Given the description of an element on the screen output the (x, y) to click on. 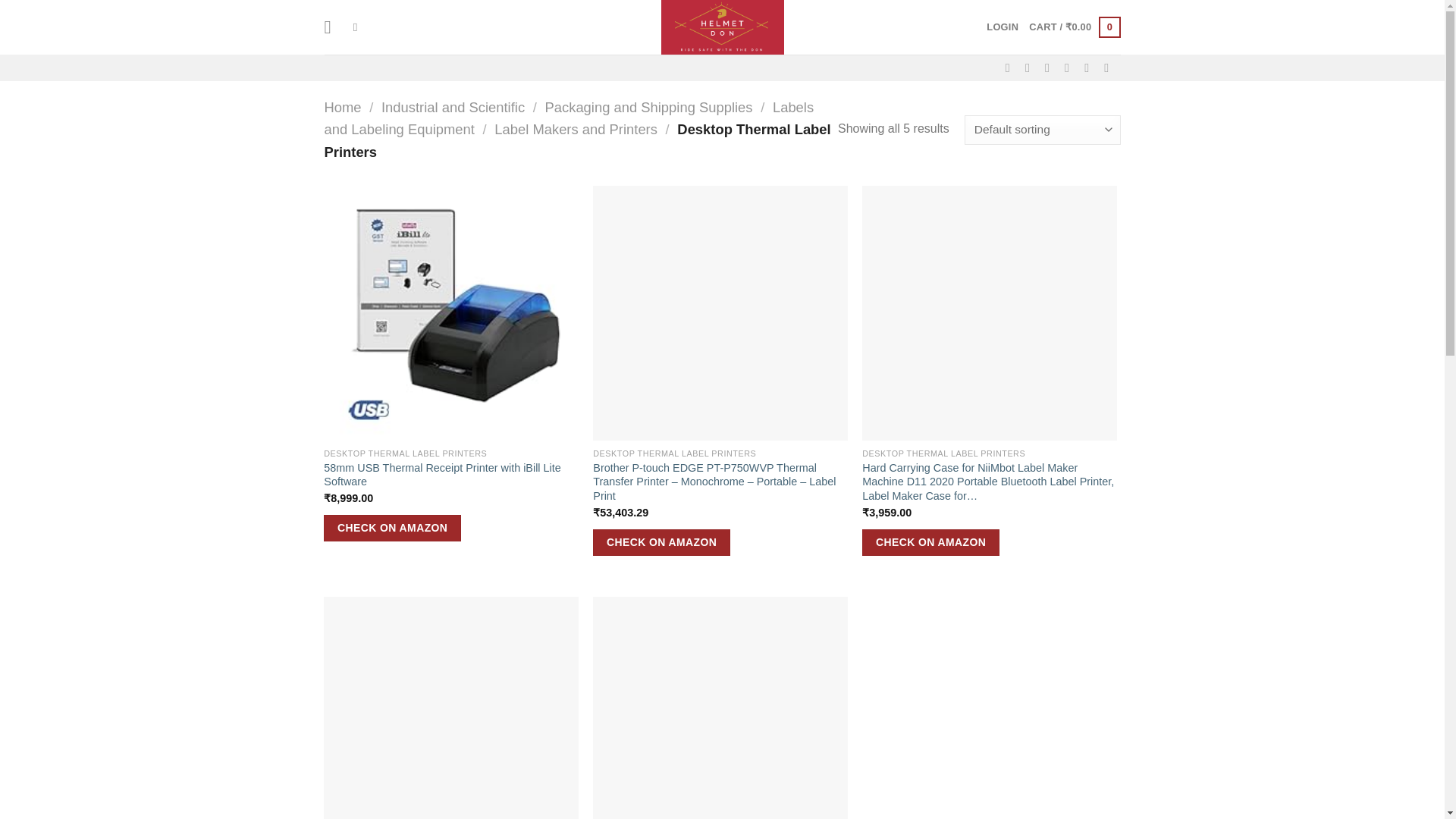
Helmet Don - Ride Safe With The Don (722, 27)
CHECK ON AMAZON (929, 542)
Home (342, 107)
Industrial and Scientific (452, 107)
Cart (1074, 26)
Label Makers and Printers (576, 129)
58mm USB Thermal Receipt Printer with iBill Lite Software 1 (450, 312)
Labels and Labeling Equipment (568, 118)
CHECK ON AMAZON (392, 528)
CHECK ON AMAZON (661, 542)
